Given the description of an element on the screen output the (x, y) to click on. 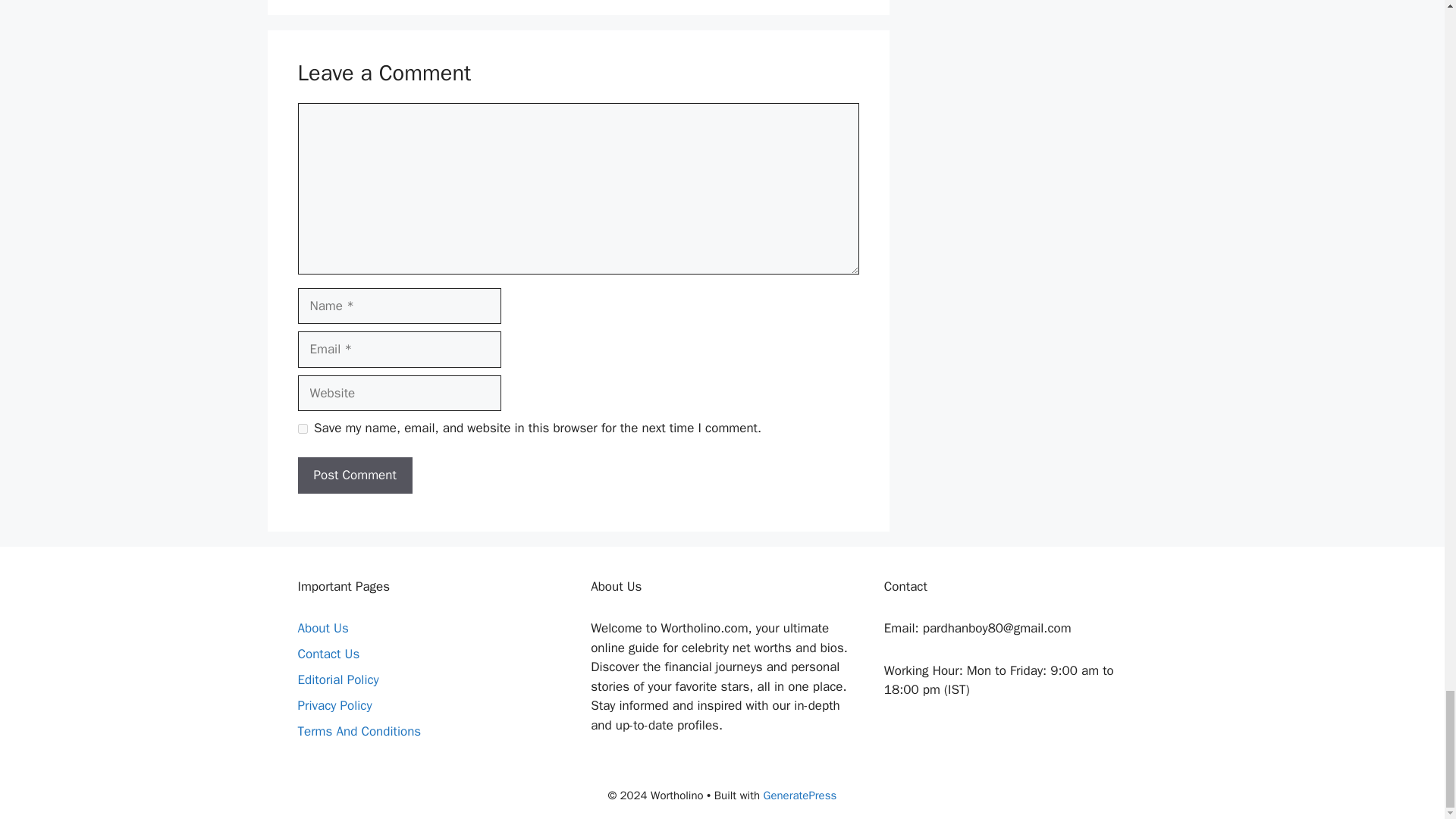
Post Comment (354, 475)
Editorial Policy (337, 679)
Contact Us (328, 653)
yes (302, 429)
About Us (322, 627)
GeneratePress (799, 795)
Terms And Conditions (358, 731)
Privacy Policy (334, 705)
Post Comment (354, 475)
